Given the description of an element on the screen output the (x, y) to click on. 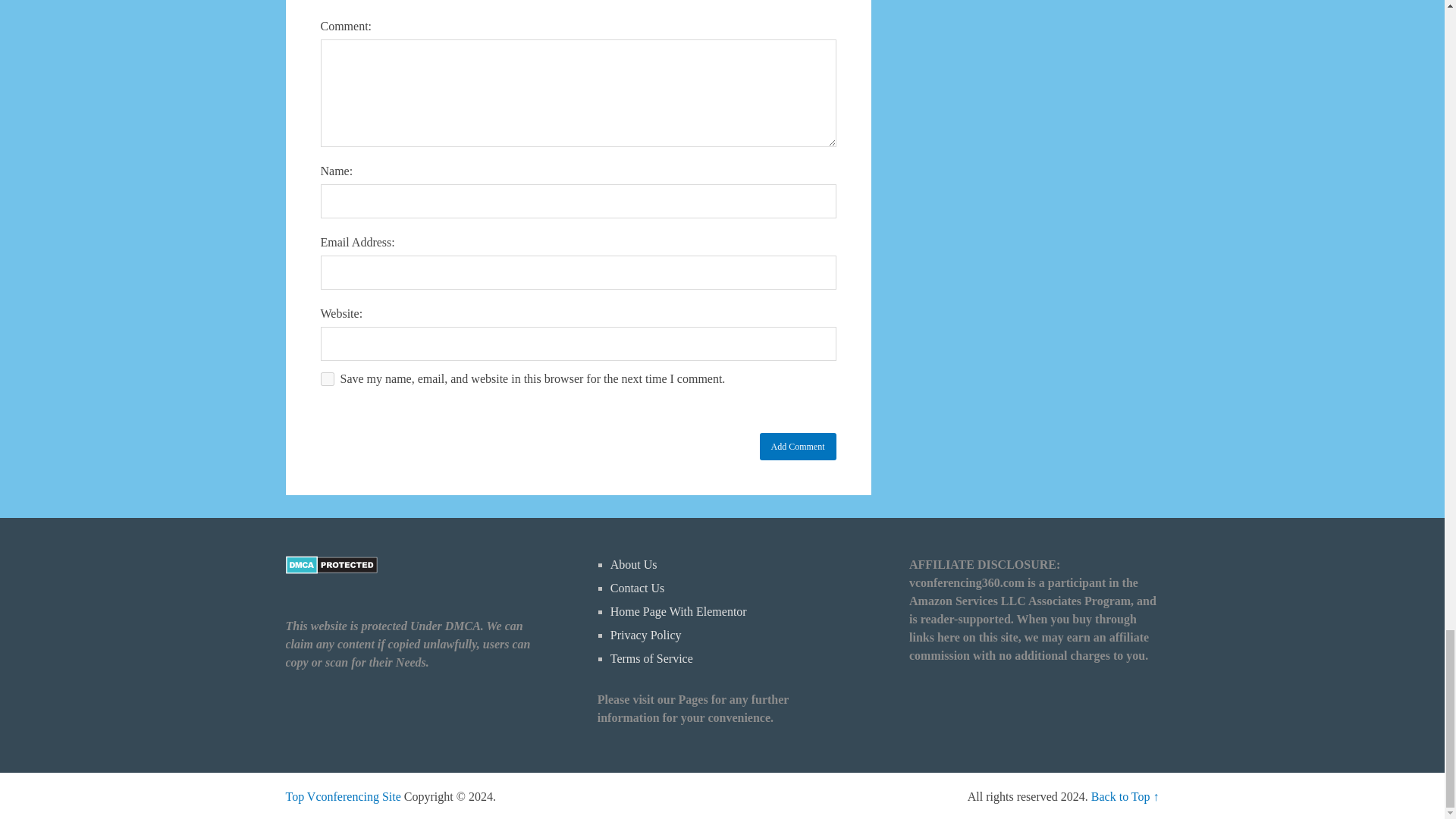
Add Comment (797, 446)
yes (326, 378)
Add Comment (797, 446)
